Given the description of an element on the screen output the (x, y) to click on. 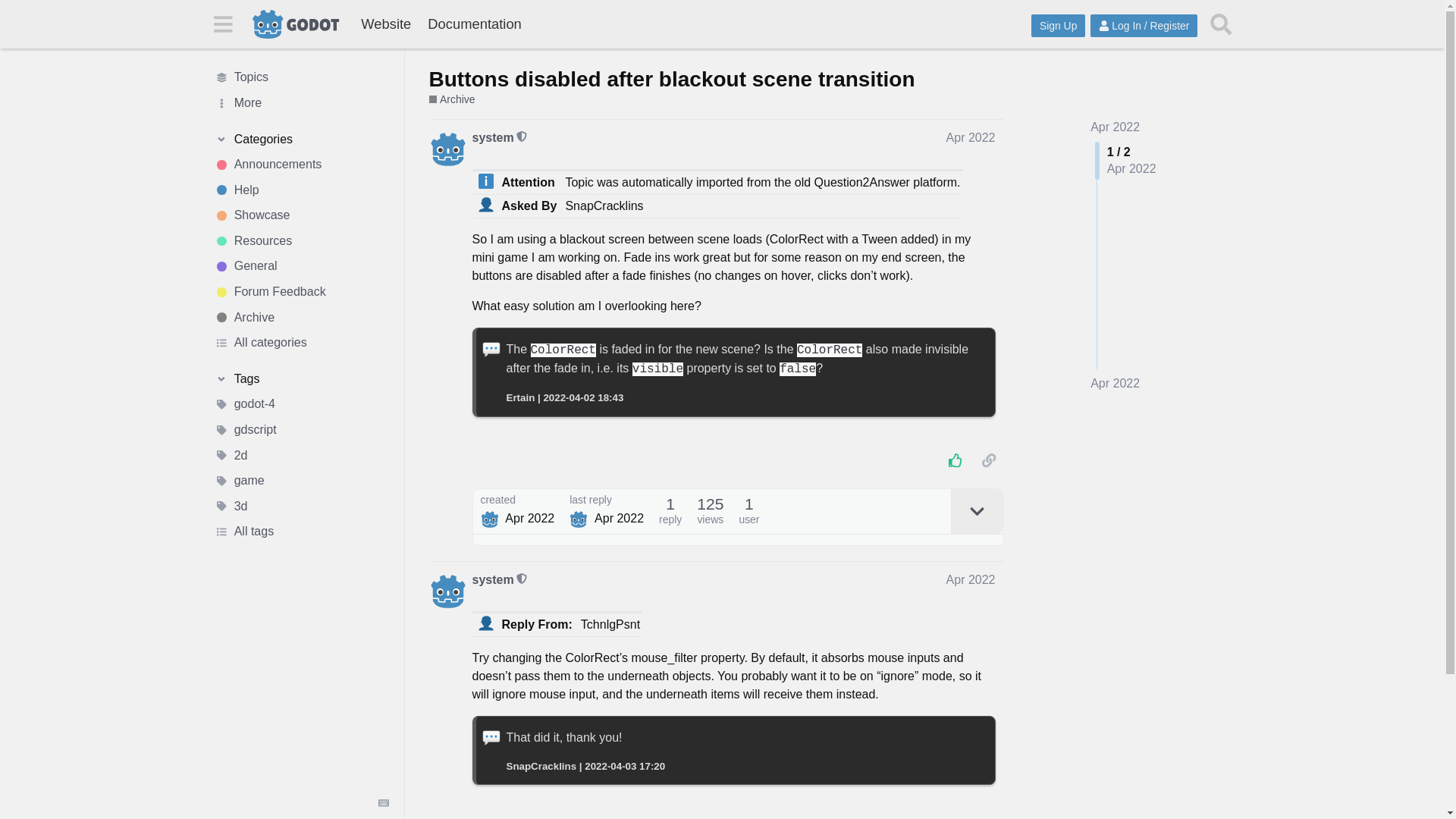
Official blog posts and other Godot announcements. (301, 164)
godot-4 (301, 404)
Showcase (301, 216)
Archive (452, 99)
All topics (301, 77)
Archive (301, 317)
Tags (301, 379)
2d (301, 455)
